Given the description of an element on the screen output the (x, y) to click on. 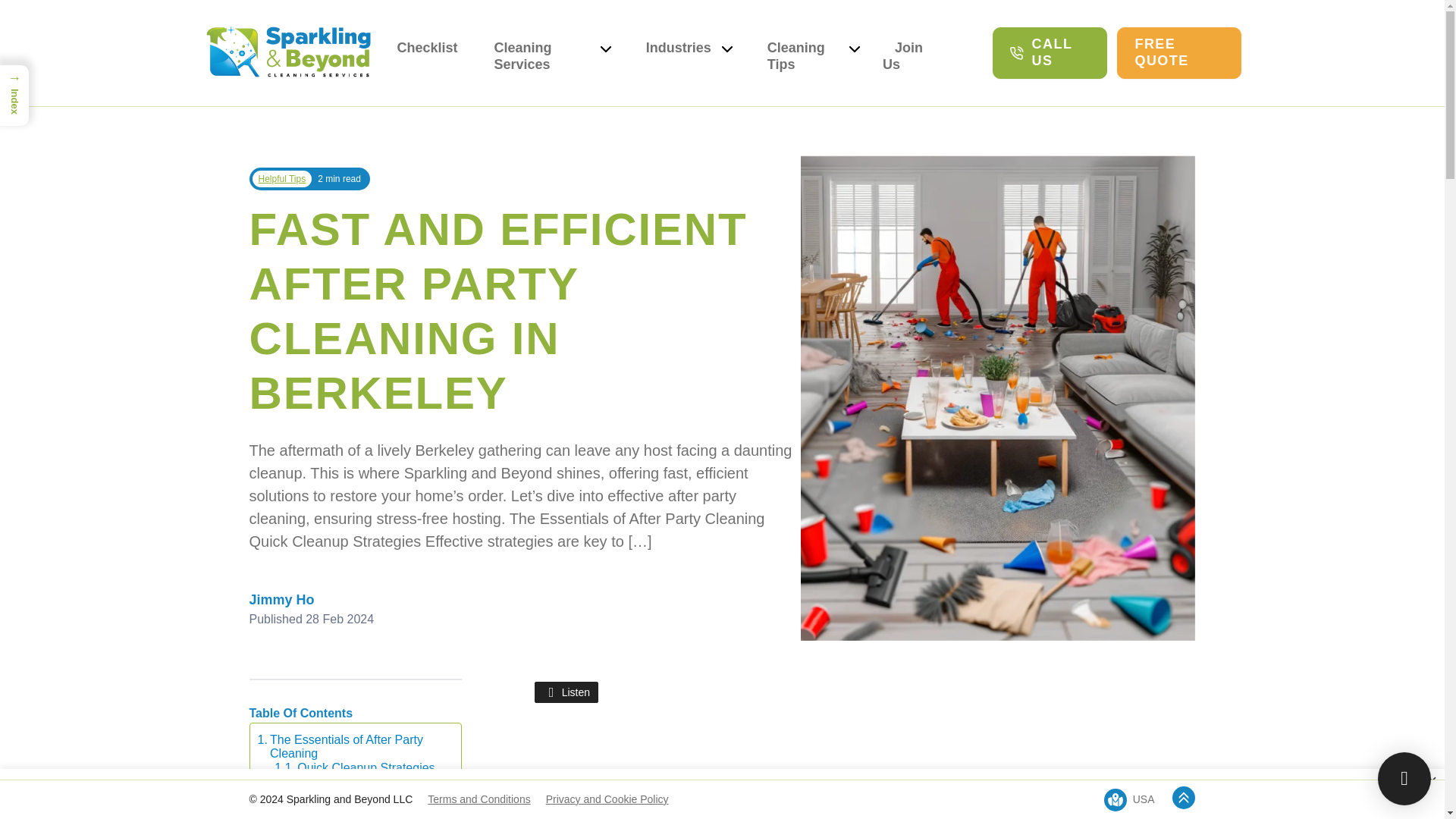
Join Us (902, 56)
DIY Cleaning Solutions (348, 785)
The Essentials of After Party Cleaning (351, 746)
Industries (678, 55)
Common After Party Cleaning Challenges (351, 807)
Helpful Tips (281, 178)
FREE QUOTE (1178, 52)
Quick Cleanup Strategies (354, 767)
Cleaning Tips (802, 55)
The Essentials of After Party Cleaning (351, 746)
DIY Cleaning Solutions (348, 785)
Cleaning Services (542, 55)
Checklist (427, 47)
Quick Cleanup Strategies (354, 767)
CALL US (1049, 52)
